Given the description of an element on the screen output the (x, y) to click on. 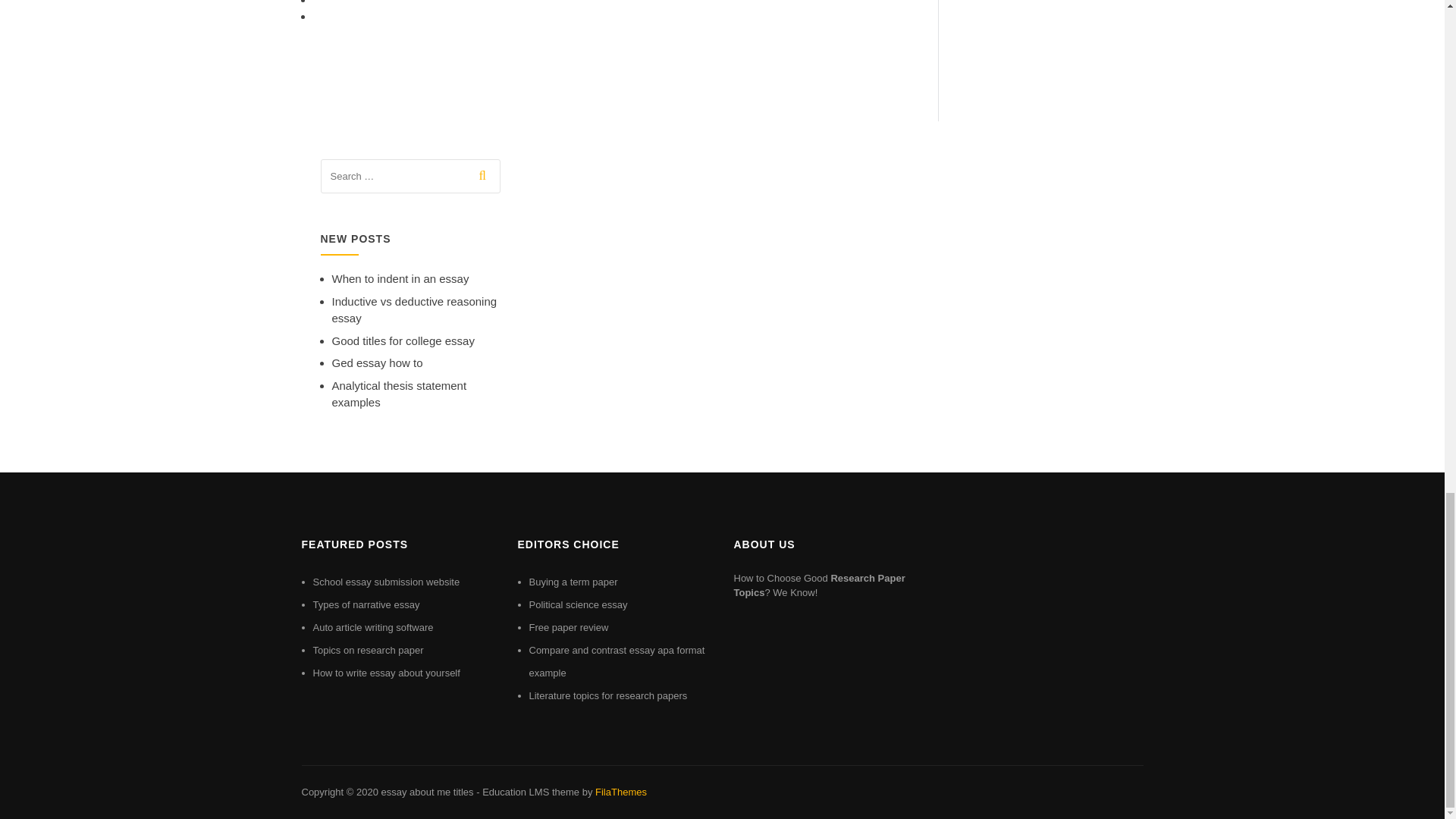
Types of narrative essay (366, 604)
Compare and contrast essay apa format example (616, 661)
Good titles for college essay (402, 340)
essay about me titles (426, 791)
How to write essay about yourself (386, 672)
Buying a term paper (573, 582)
Analytical thesis statement examples (399, 394)
Free paper review (568, 627)
School essay submission website (386, 582)
Political science essay (578, 604)
